Given the description of an element on the screen output the (x, y) to click on. 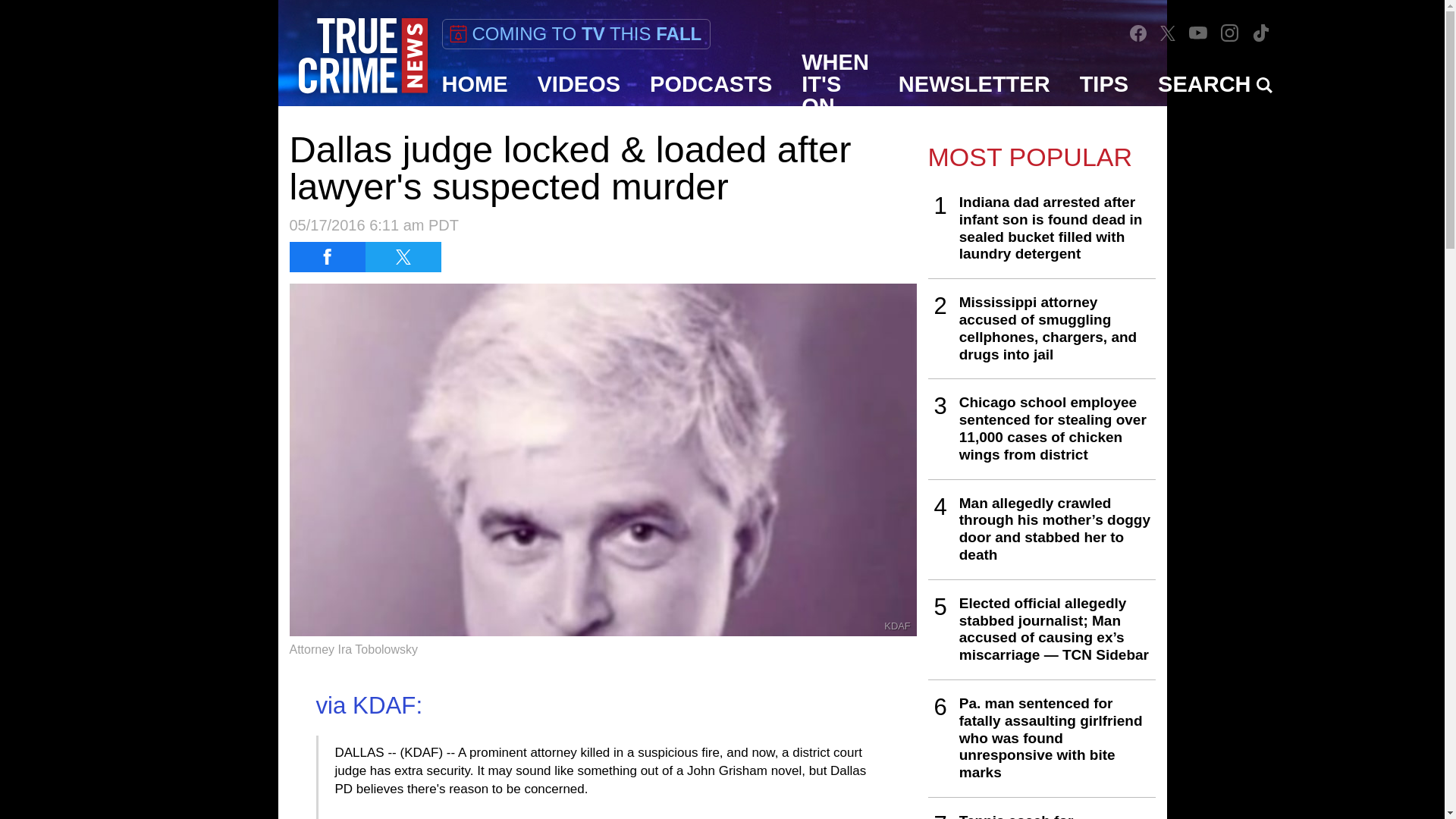
NEWSLETTER (974, 84)
YouTube (1198, 32)
TikTok (1260, 32)
Instagram (1229, 32)
True Crime News (363, 56)
COMING TO TV THIS FALL (575, 33)
TIPS (1103, 84)
VIDEOS (579, 84)
3rd party ad content (721, 785)
SEARCH (1214, 84)
